Given the description of an element on the screen output the (x, y) to click on. 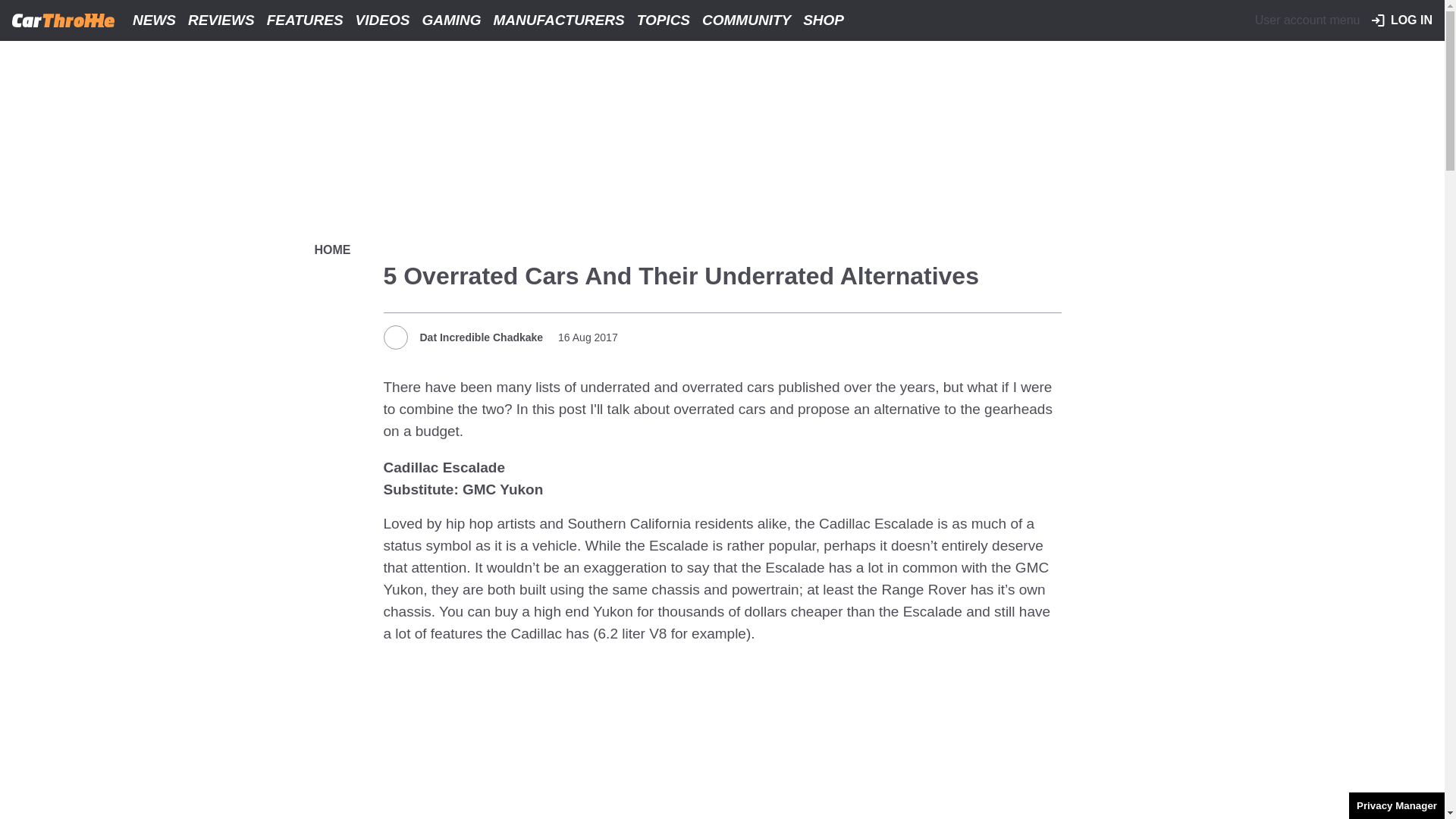
LOG IN (1401, 20)
VIDEOS (382, 20)
3rd party ad content (721, 737)
MANUFACTURERS (558, 20)
Share to Facebook (965, 335)
Share to Email (1047, 335)
REVIEWS (221, 20)
GAMING (450, 20)
